Given the description of an element on the screen output the (x, y) to click on. 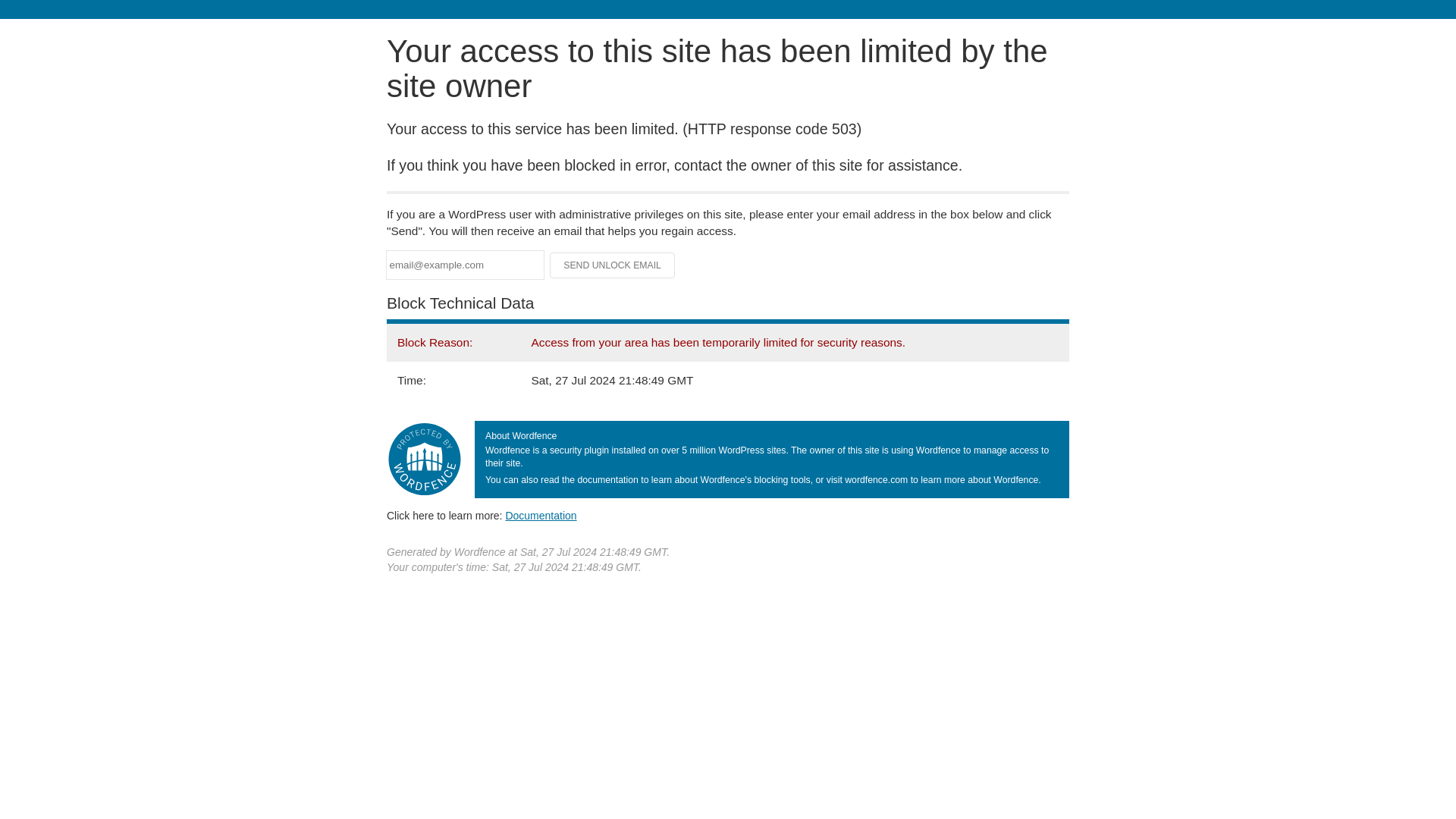
Documentation (540, 515)
Send Unlock Email (612, 265)
Send Unlock Email (612, 265)
